Given the description of an element on the screen output the (x, y) to click on. 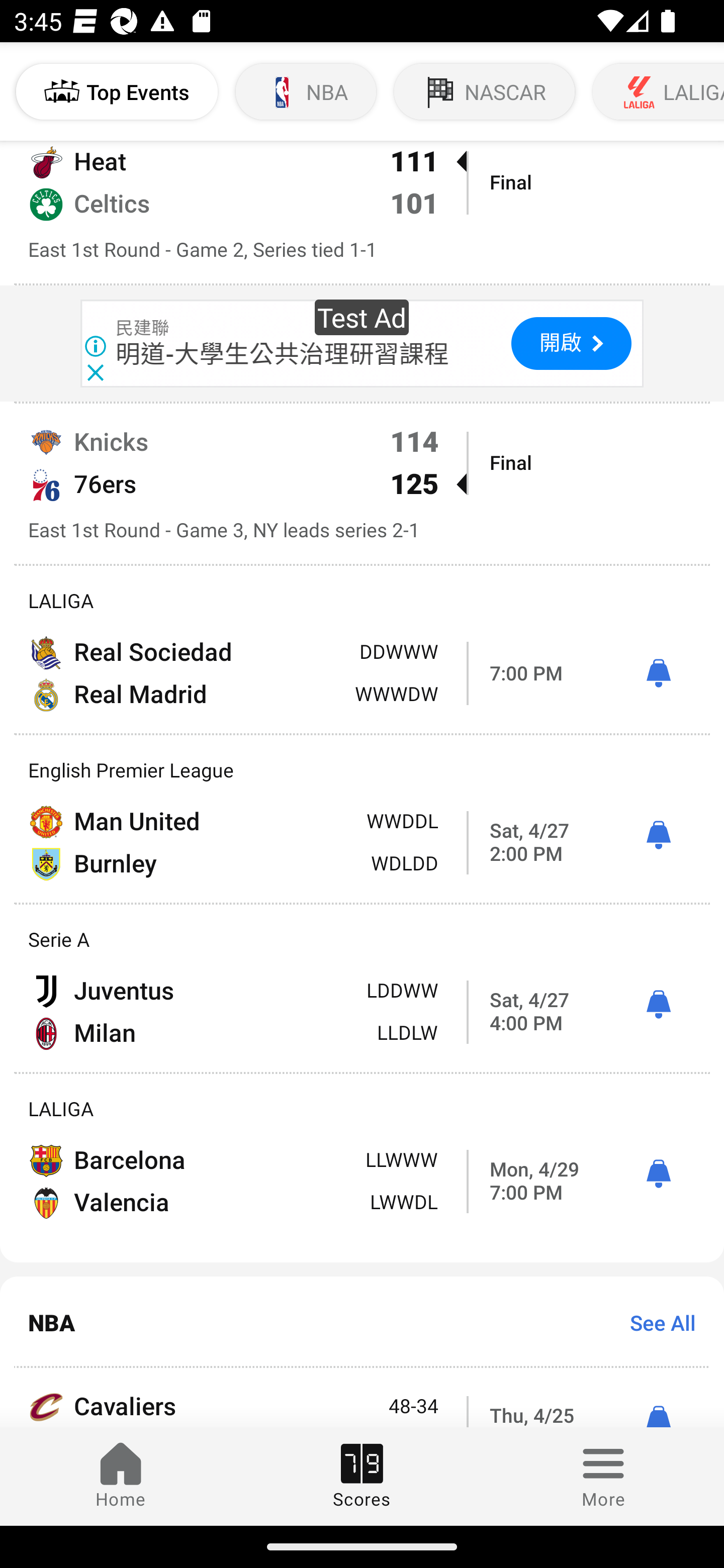
 Top Events (116, 91)
NBA (305, 91)
NASCAR (484, 91)
LALIGA (656, 91)
民建聯 (142, 328)
開啟 (570, 343)
明道-大學生公共治理研習課程 (282, 354)
ì (658, 673)
ì (658, 835)
ì (658, 1004)
ì (658, 1174)
NBA See All (362, 1321)
See All (655, 1322)
Cavaliers 48-34 Thu, 4/25 ì (362, 1396)
Home (120, 1475)
More (603, 1475)
